Given the description of an element on the screen output the (x, y) to click on. 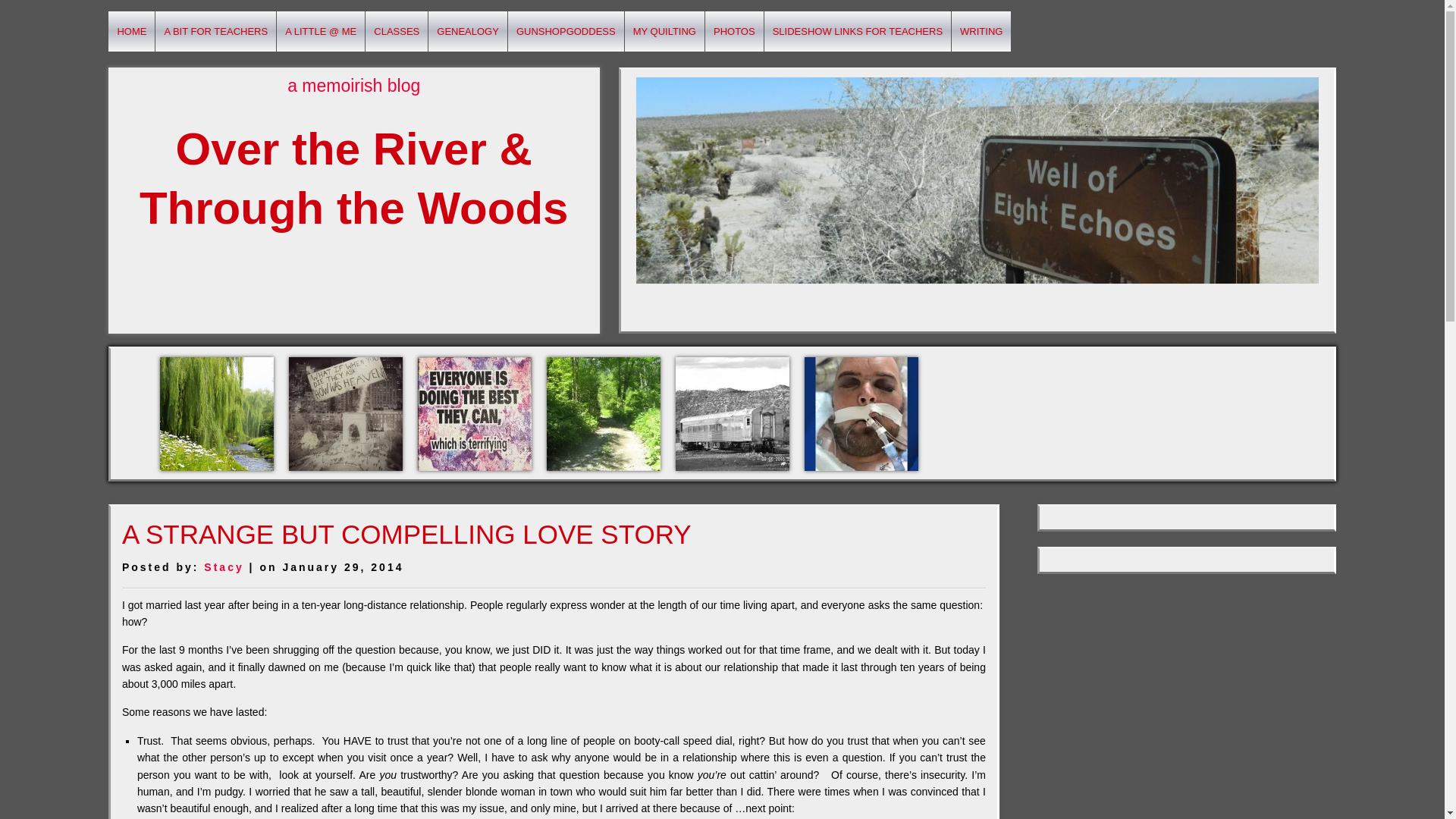
A BIT FOR TEACHERS (215, 31)
SLIDESHOW LINKS FOR TEACHERS (857, 31)
HOME (130, 31)
WRITING (981, 31)
CLASSES (396, 31)
PHOTOS (733, 31)
Posts by Stacy (223, 567)
GUNSHOPGODDESS (566, 31)
GENEALOGY (467, 31)
MY QUILTING (664, 31)
